Given the description of an element on the screen output the (x, y) to click on. 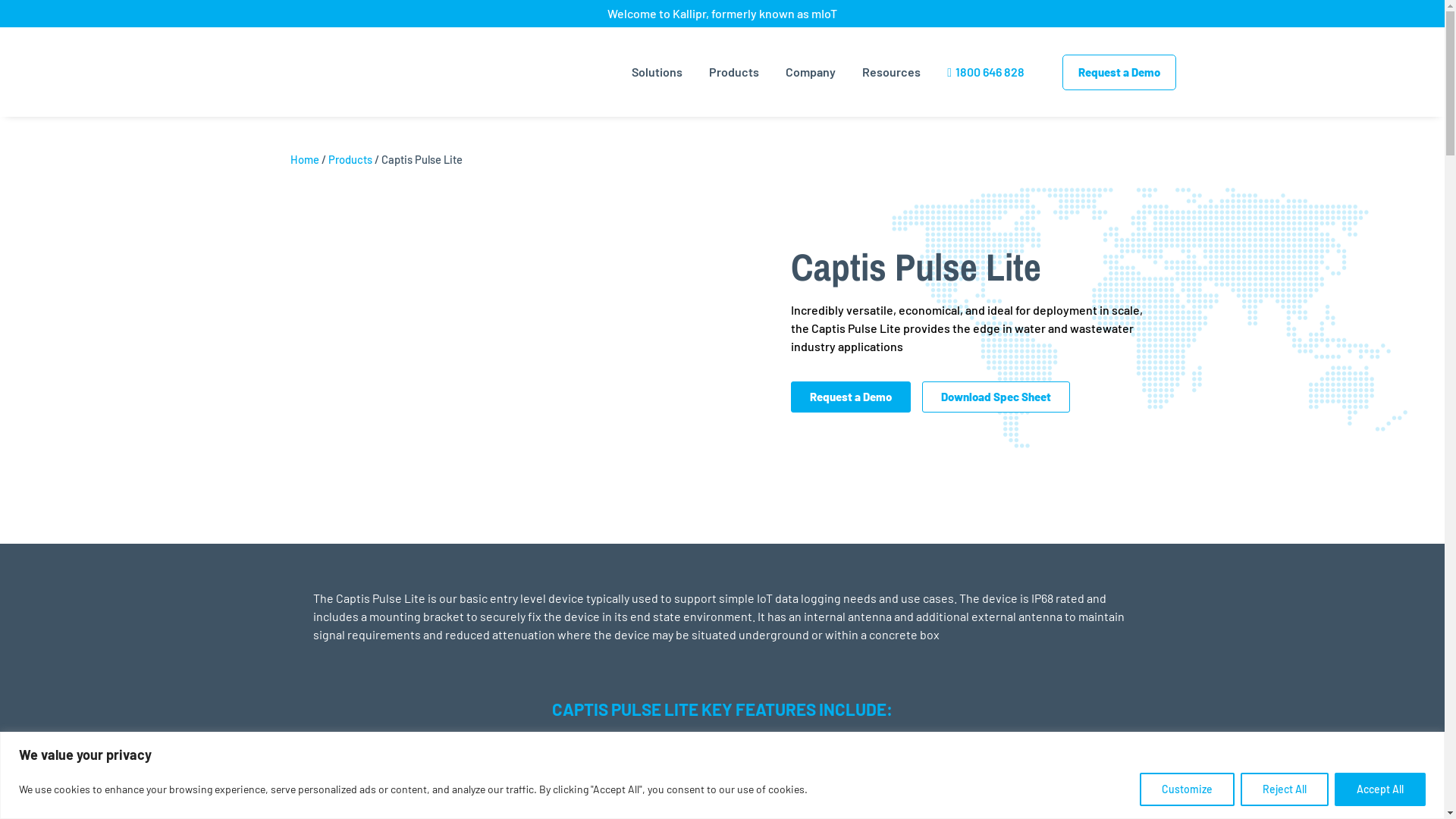
Reject All Element type: text (1284, 788)
Download Spec Sheet Element type: text (996, 396)
Request a Demo Element type: text (1119, 72)
Products Element type: text (349, 159)
Company Element type: text (810, 71)
Customize Element type: text (1186, 788)
1800 646 828 Element type: text (985, 71)
Accept All Element type: text (1379, 788)
Resources Element type: text (891, 71)
Request a Demo Element type: text (850, 396)
Solutions Element type: text (657, 71)
Home Element type: text (303, 159)
Products Element type: text (733, 71)
